Given the description of an element on the screen output the (x, y) to click on. 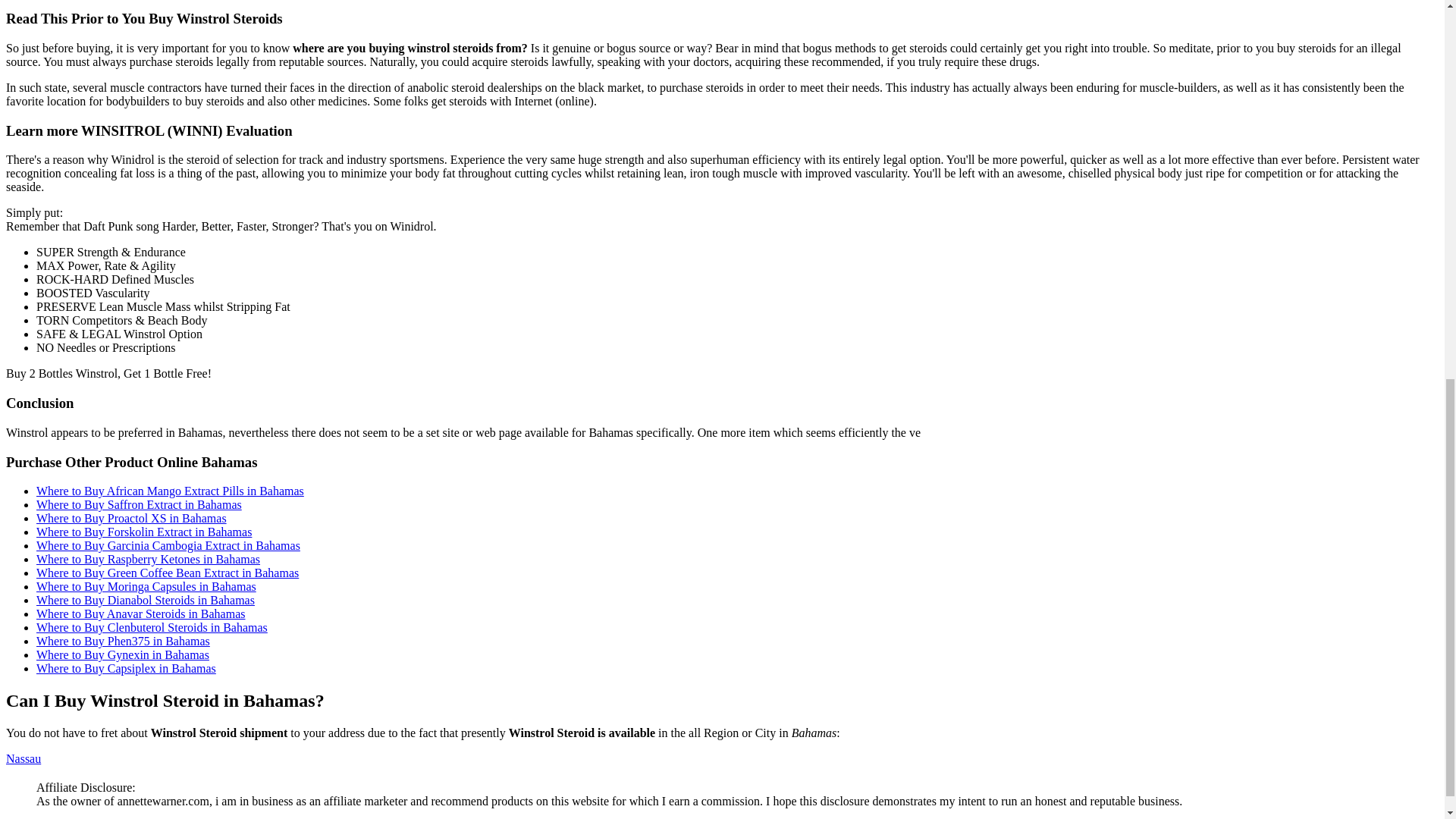
Where to Purchase anavar-steroids online Bahamas (141, 613)
Where to Purchase african-mango-extract-pills online Bahamas (170, 490)
Where to Purchase moringa-capsules online Bahamas (146, 585)
Where to Buy African Mango Extract Pills in Bahamas (170, 490)
Where to Purchase garcinia-cambogia-extract online Bahamas (167, 545)
Where to Purchase capsiplex online Bahamas (125, 667)
Where to Purchase saffron-extract online Bahamas (138, 504)
Where to Buy Saffron Extract in Bahamas (138, 504)
Where to Purchase green-coffee-bean-extract online Bahamas (167, 572)
Where to Buy Capsiplex in Bahamas (125, 667)
Where to Purchase raspberry-ketones online Bahamas (148, 558)
Where to Buy Anavar Steroids in Bahamas (141, 613)
Where to Buy Phen375 in Bahamas (122, 640)
Where to Buy Dianabol Steroids in Bahamas (145, 599)
Where to Buy Moringa Capsules in Bahamas (146, 585)
